Given the description of an element on the screen output the (x, y) to click on. 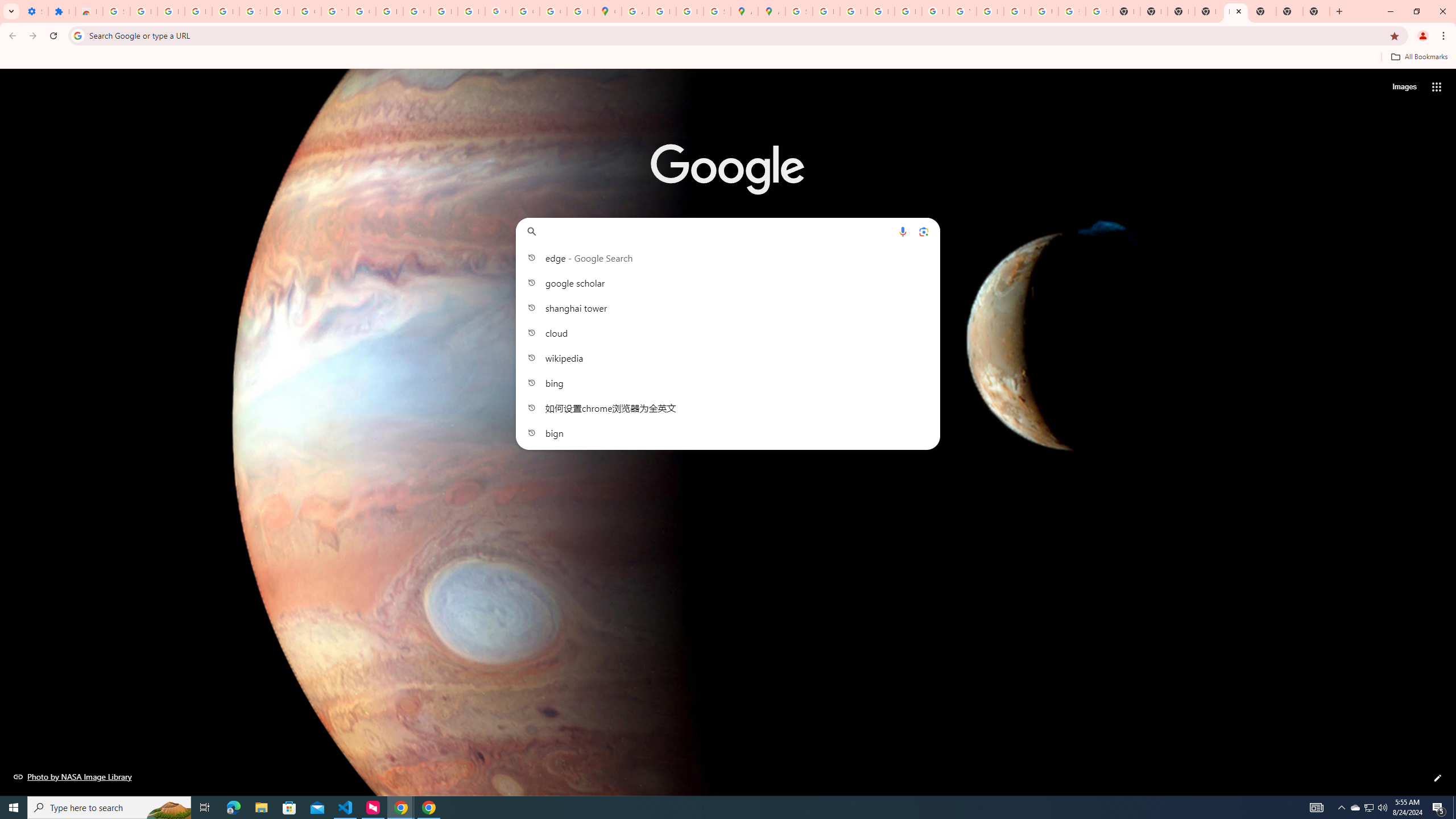
Privacy Help Center - Policies Help (880, 11)
New Tab (1236, 11)
Add shortcut (727, 287)
https://scholar.google.com/ (389, 11)
Search by image (922, 230)
YouTube (334, 11)
